Given the description of an element on the screen output the (x, y) to click on. 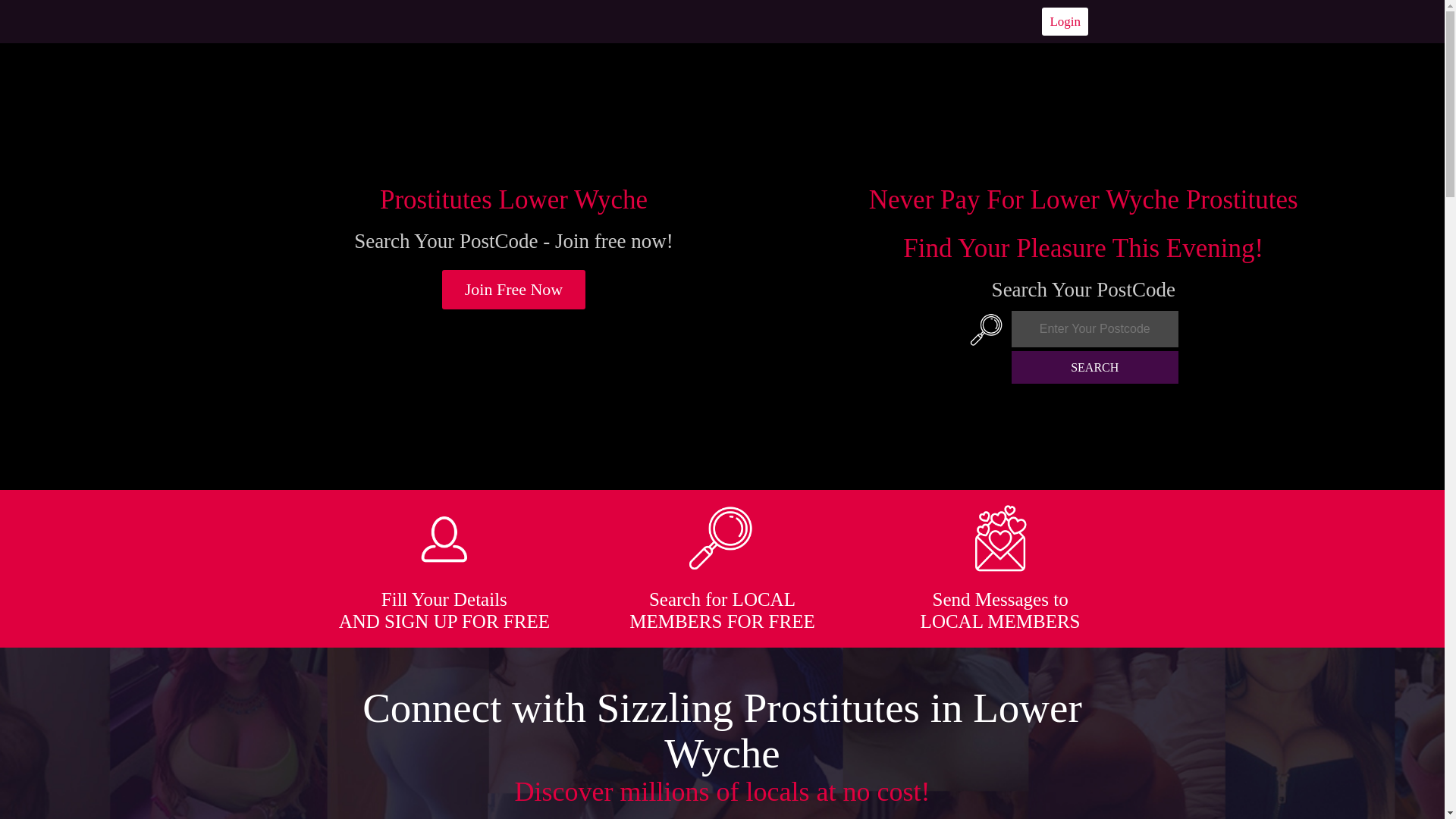
Join Free Now (514, 289)
Login (1064, 21)
Join (514, 289)
Login (1064, 21)
SEARCH (1094, 367)
